Given the description of an element on the screen output the (x, y) to click on. 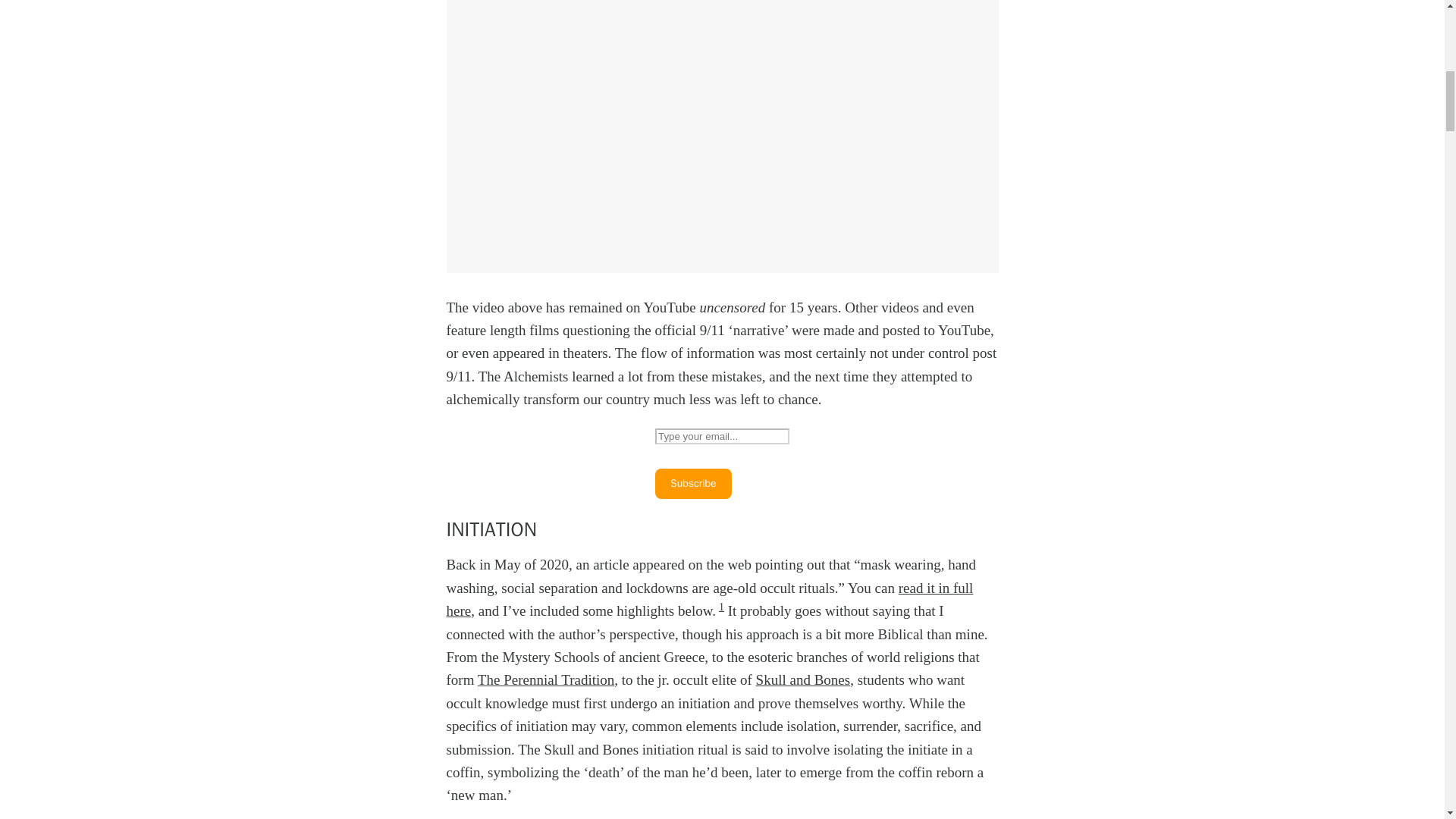
read it in full here (708, 599)
Subscribe (693, 483)
Skull and Bones (802, 679)
The Perennial Tradition (545, 679)
